Given the description of an element on the screen output the (x, y) to click on. 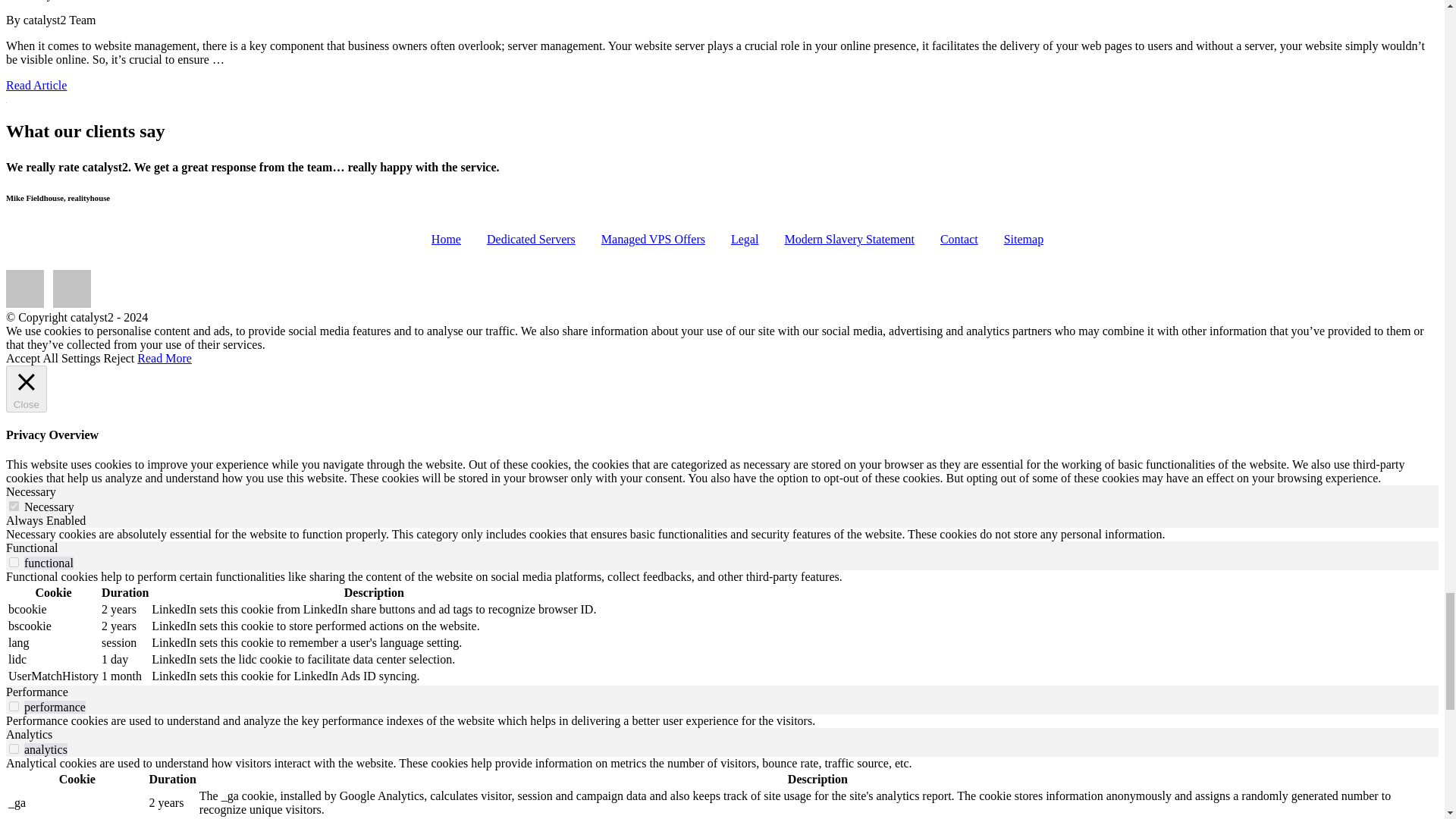
UKAS Accredited ISO 27001 (24, 288)
on (13, 706)
UKAS Accredited ISO 9001 (71, 288)
on (13, 562)
on (13, 748)
on (13, 506)
